Given the description of an element on the screen output the (x, y) to click on. 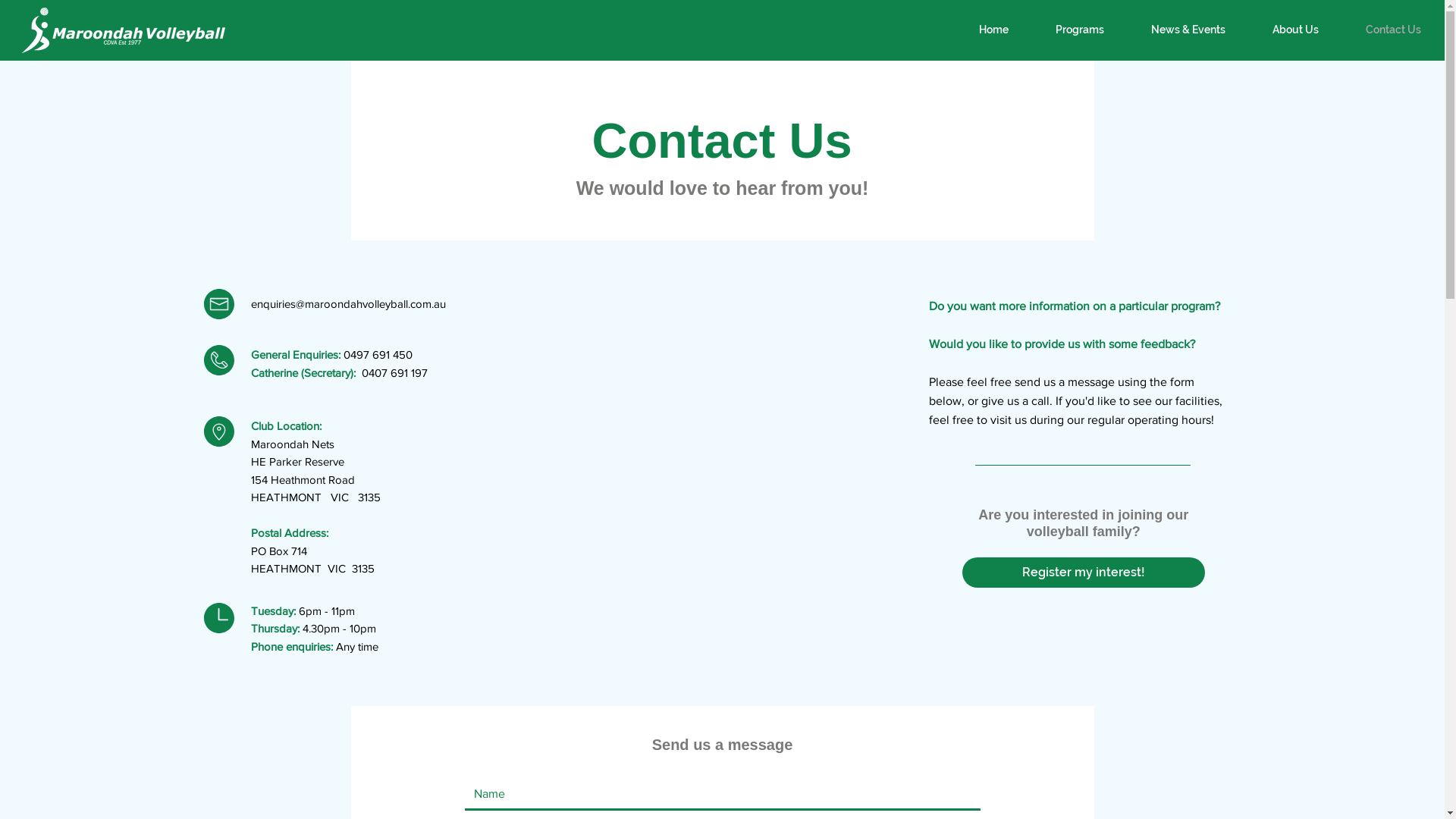
Register my interest! Element type: text (1083, 572)
Contact Us Element type: text (1393, 29)
News & Events Element type: text (1187, 29)
enquiries@maroondahvolleyball.com.au Element type: text (348, 303)
Programs Element type: text (1079, 29)
Home Element type: text (993, 29)
About Us Element type: text (1295, 29)
